Given the description of an element on the screen output the (x, y) to click on. 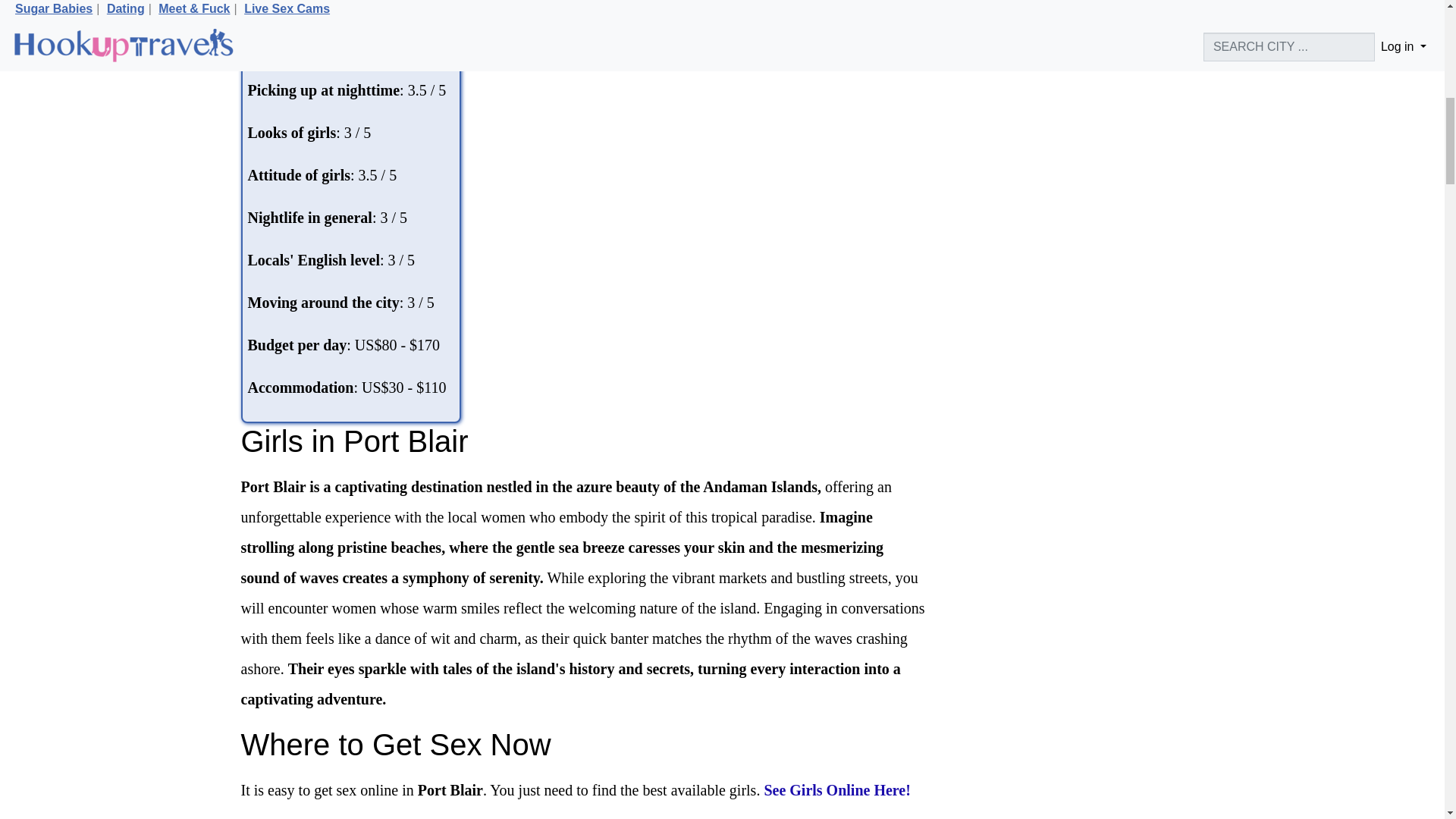
See Girls Online Here! (836, 790)
